Given the description of an element on the screen output the (x, y) to click on. 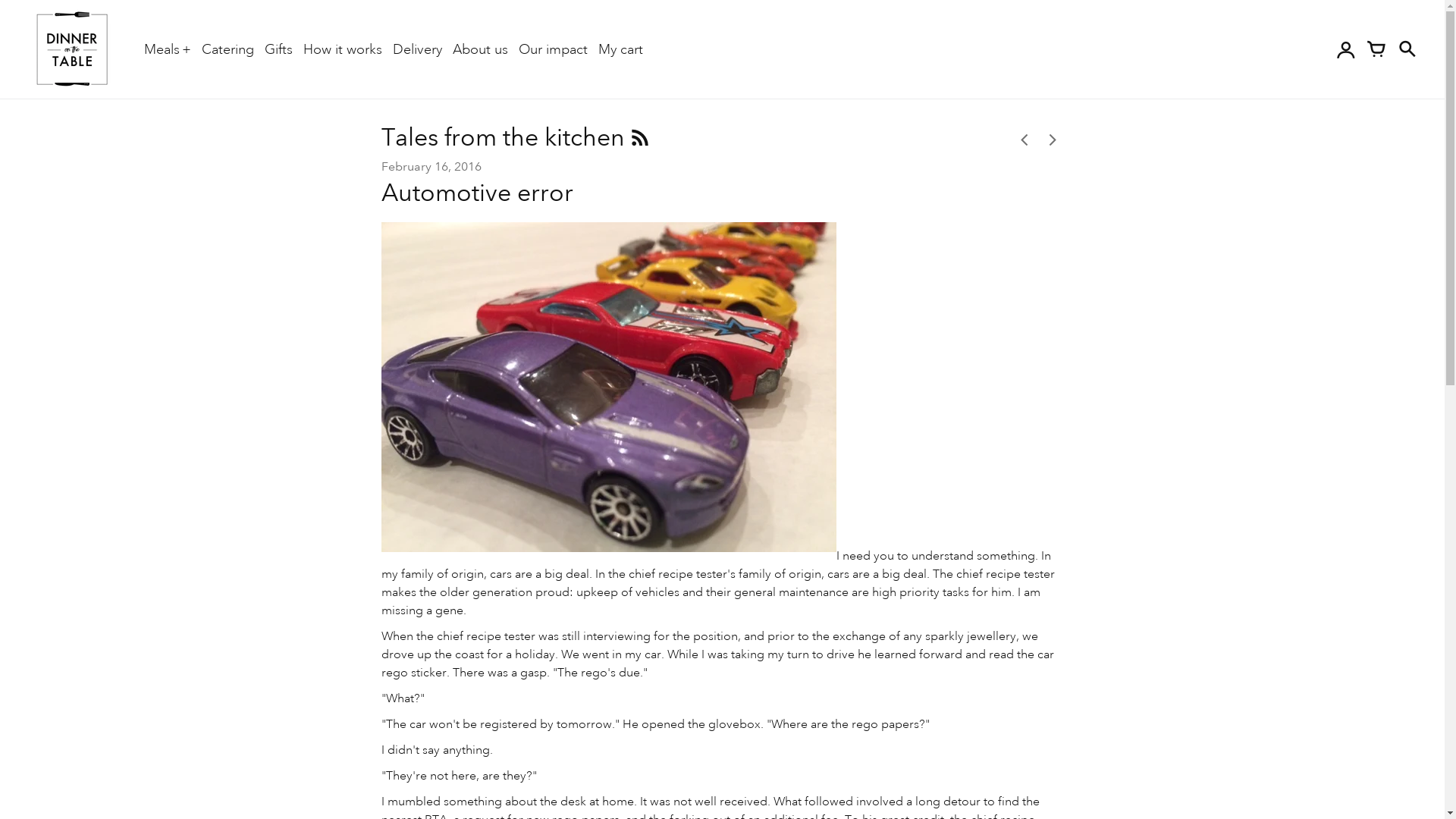
Delivery Element type: text (417, 48)
My cart Element type: text (620, 48)
Catering Element type: text (227, 48)
Gifts Element type: text (278, 48)
Our impact Element type: text (552, 48)
Meals Element type: text (167, 49)
Automotive error Element type: text (476, 192)
Tales from the kitchen Element type: text (505, 136)
About us Element type: text (480, 48)
How it works Element type: text (342, 48)
